Given the description of an element on the screen output the (x, y) to click on. 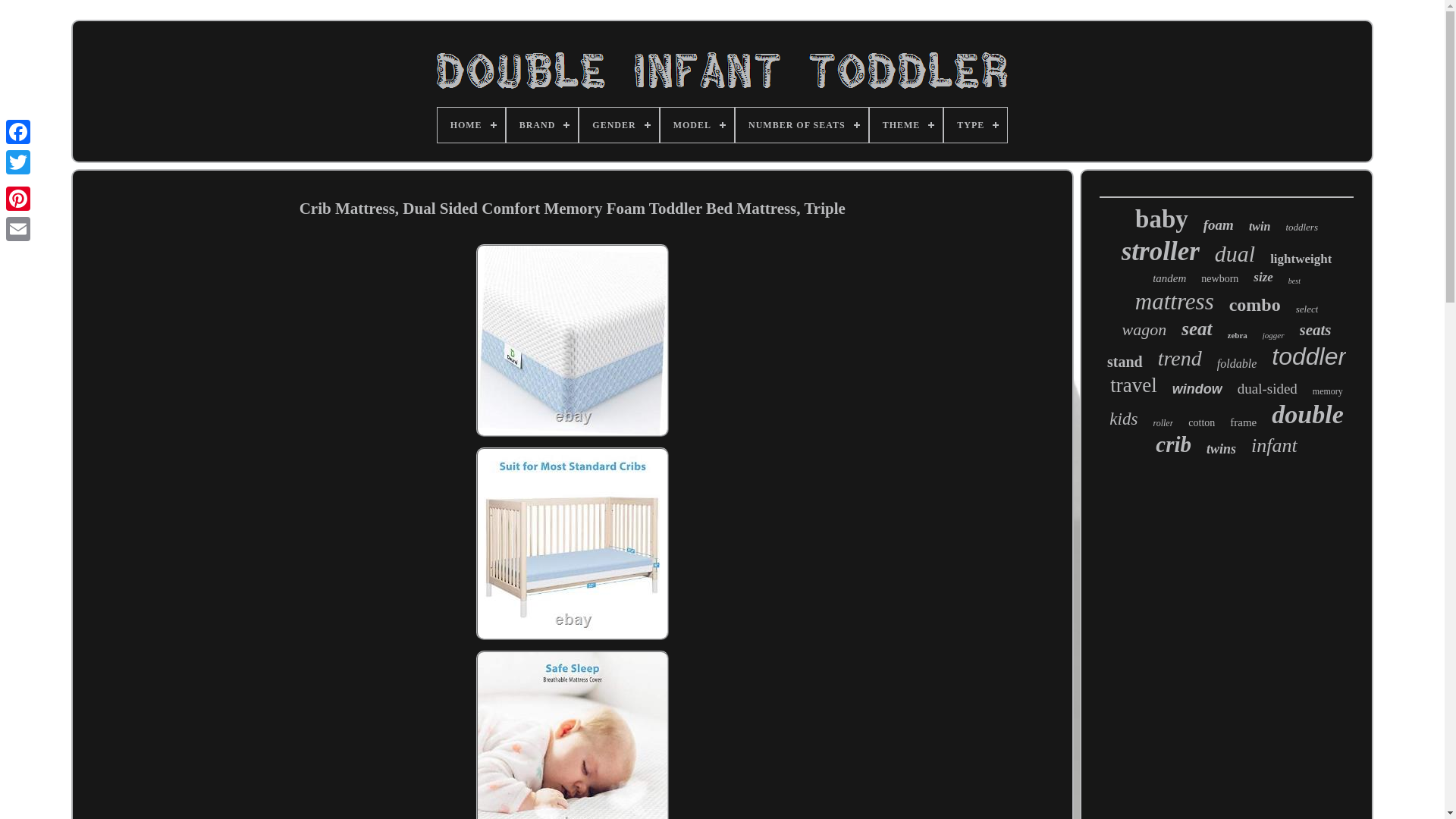
MODEL (697, 124)
GENDER (618, 124)
HOME (471, 124)
BRAND (542, 124)
